Given the description of an element on the screen output the (x, y) to click on. 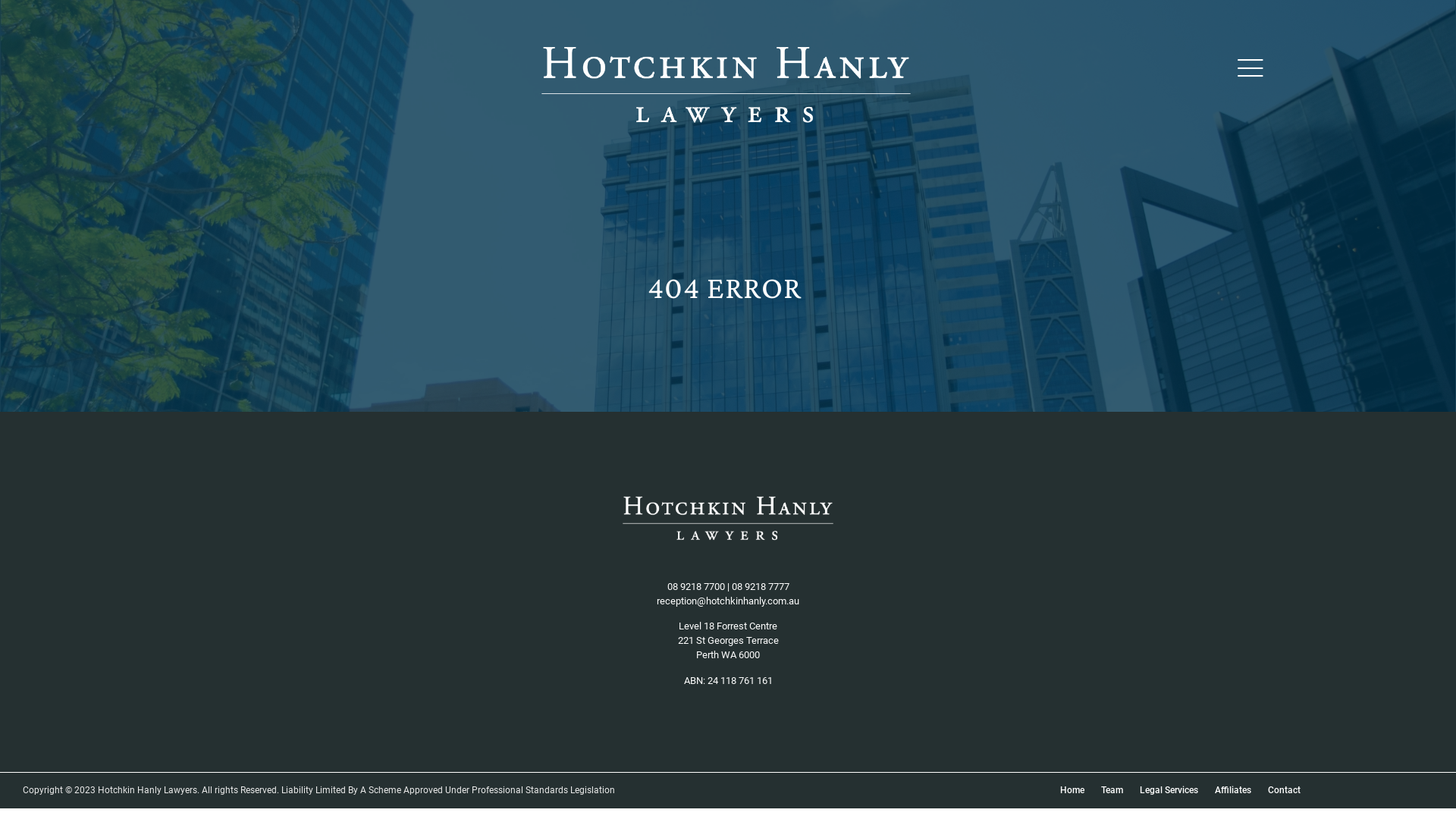
Affiliates Element type: text (1232, 790)
Team Element type: text (1111, 790)
Contact Element type: text (1283, 790)
Home Element type: text (1071, 790)
Legal Services Element type: text (1168, 790)
